Given the description of an element on the screen output the (x, y) to click on. 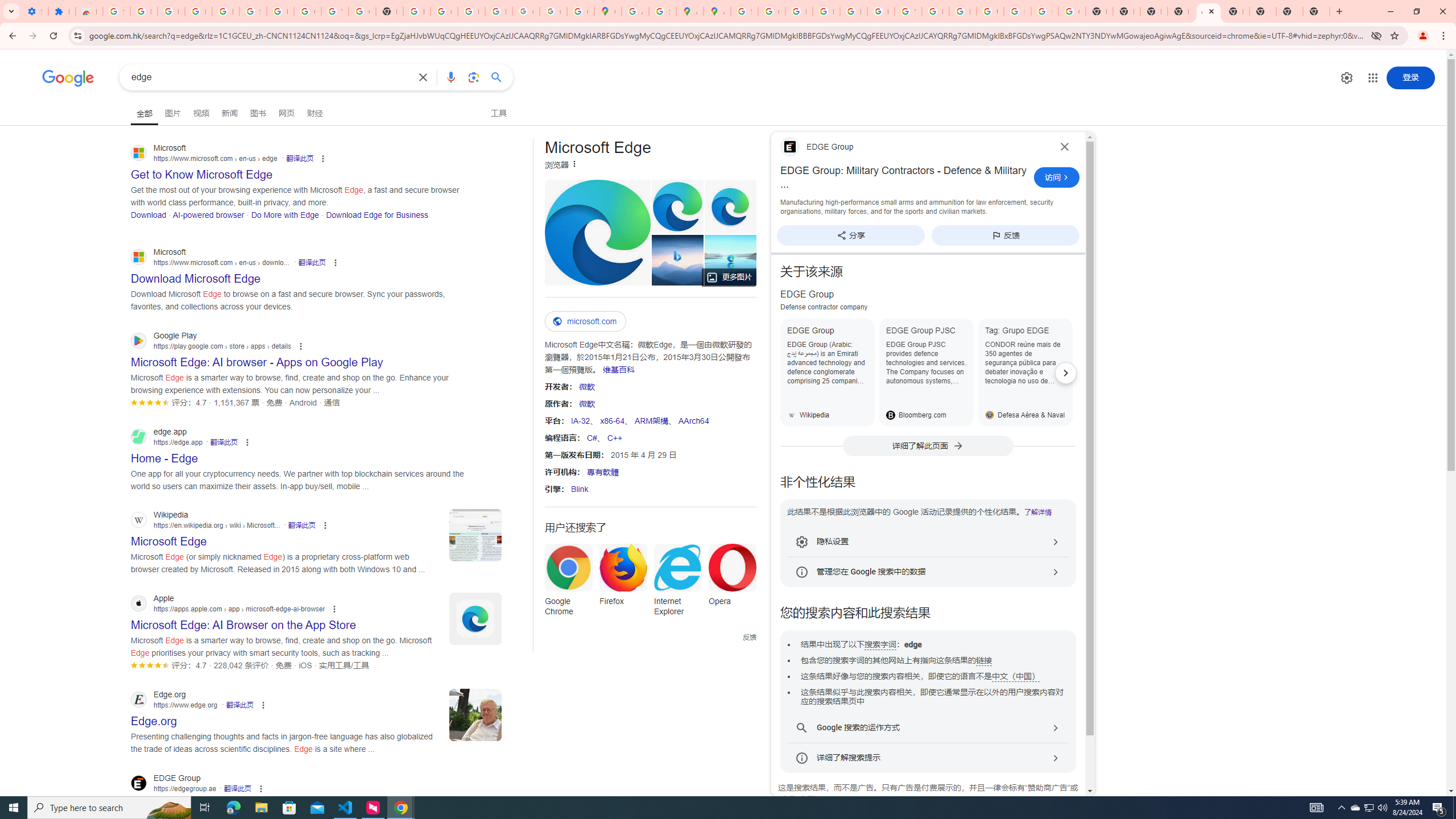
YouTube (908, 11)
Google (68, 78)
Download Edge for Business (377, 214)
Blink (579, 488)
